Given the description of an element on the screen output the (x, y) to click on. 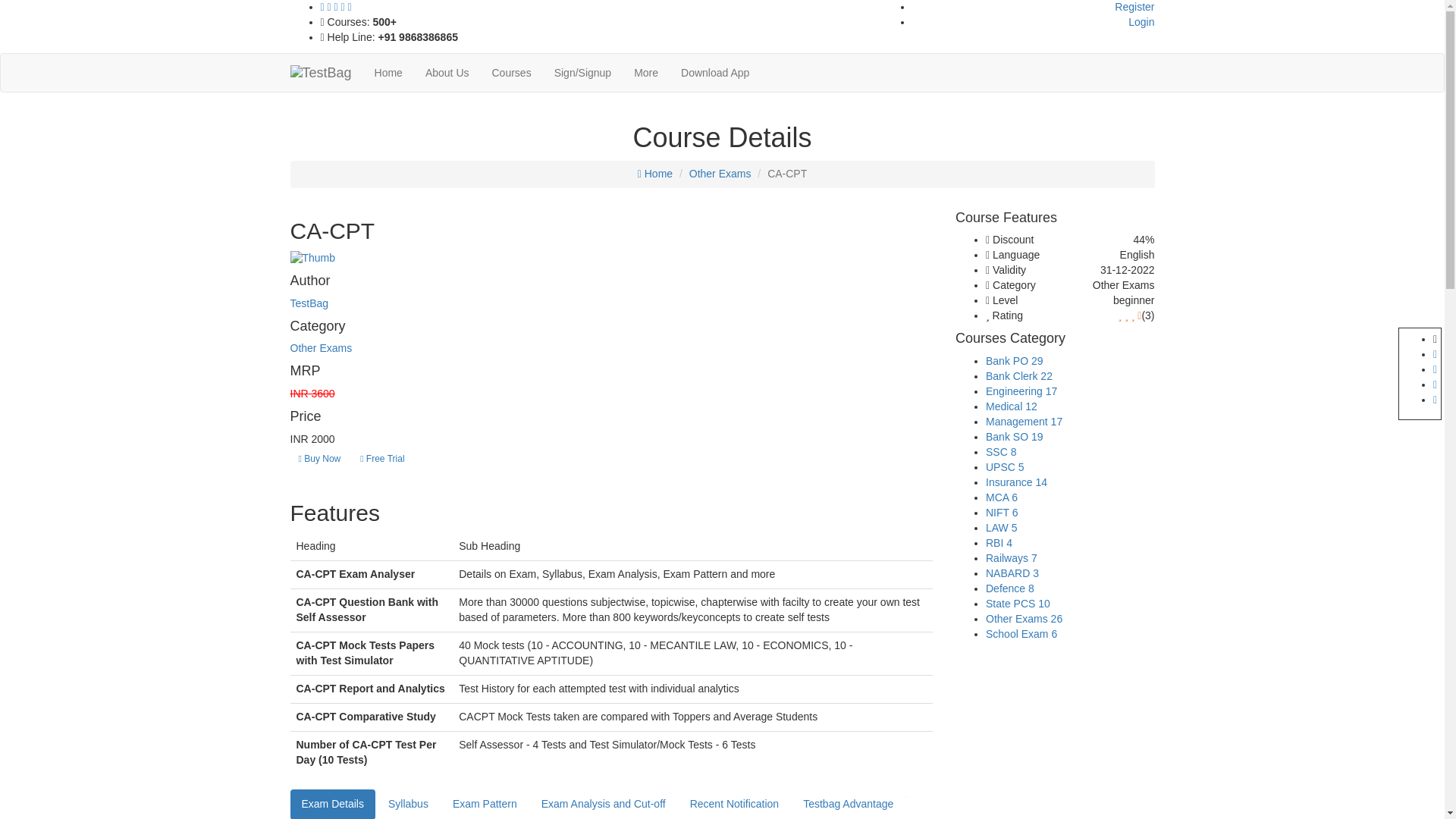
Home (387, 72)
Courses (511, 72)
Download App (714, 72)
Home (654, 173)
About Us (446, 72)
Register (1134, 6)
Login (1141, 21)
More (646, 72)
